Given the description of an element on the screen output the (x, y) to click on. 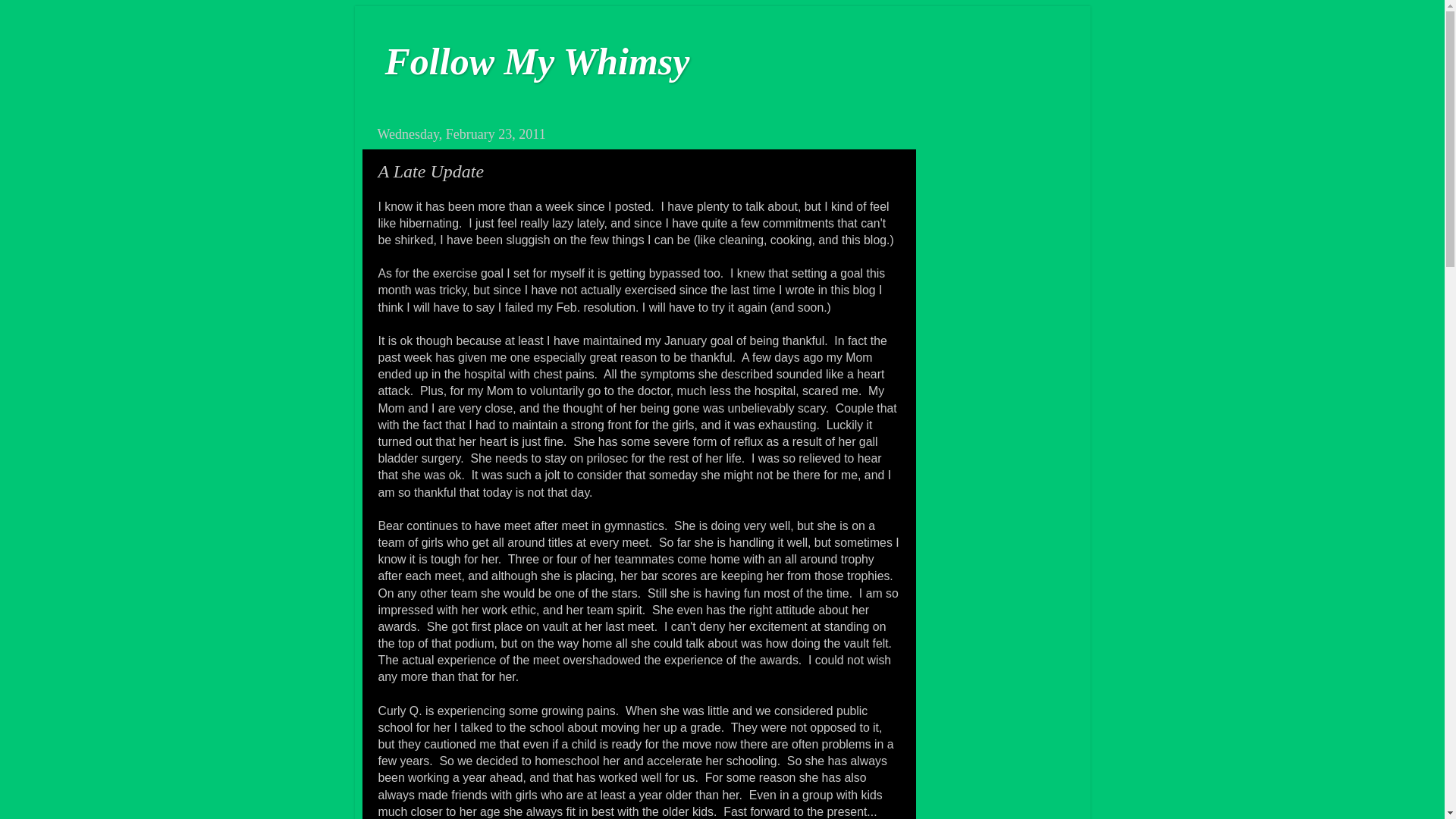
Follow My Whimsy (537, 60)
